Given the description of an element on the screen output the (x, y) to click on. 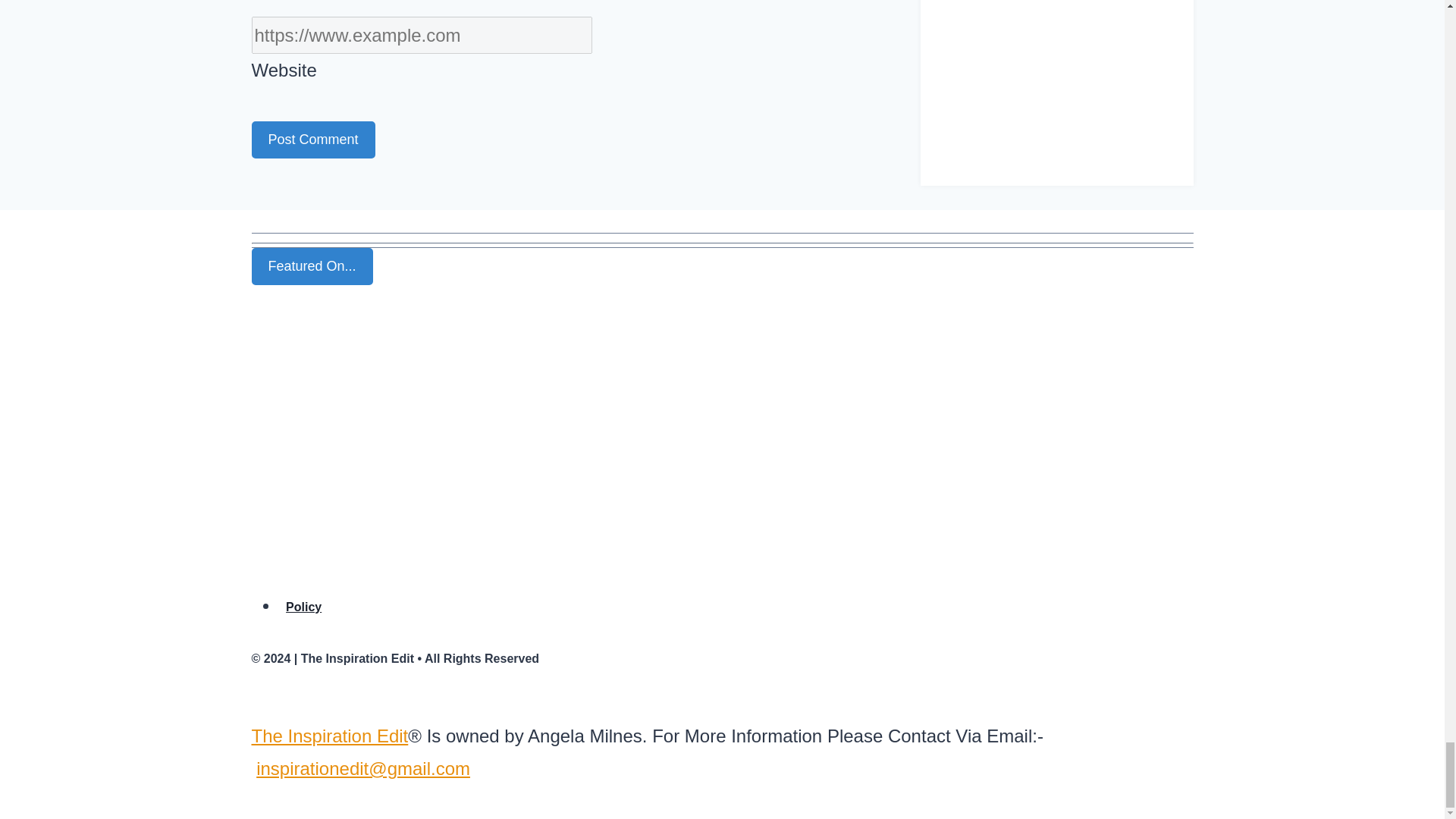
Post Comment (313, 139)
